Given the description of an element on the screen output the (x, y) to click on. 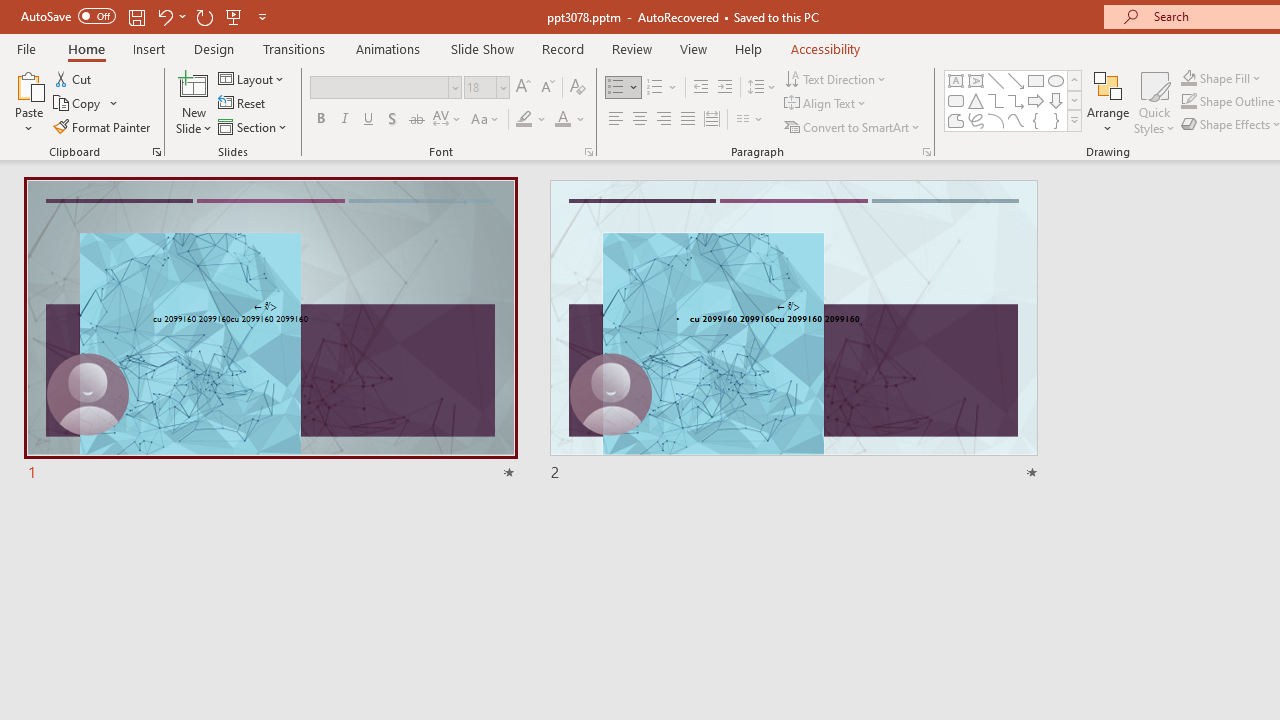
Shape Outline Green, Accent 1 (1188, 101)
